Given the description of an element on the screen output the (x, y) to click on. 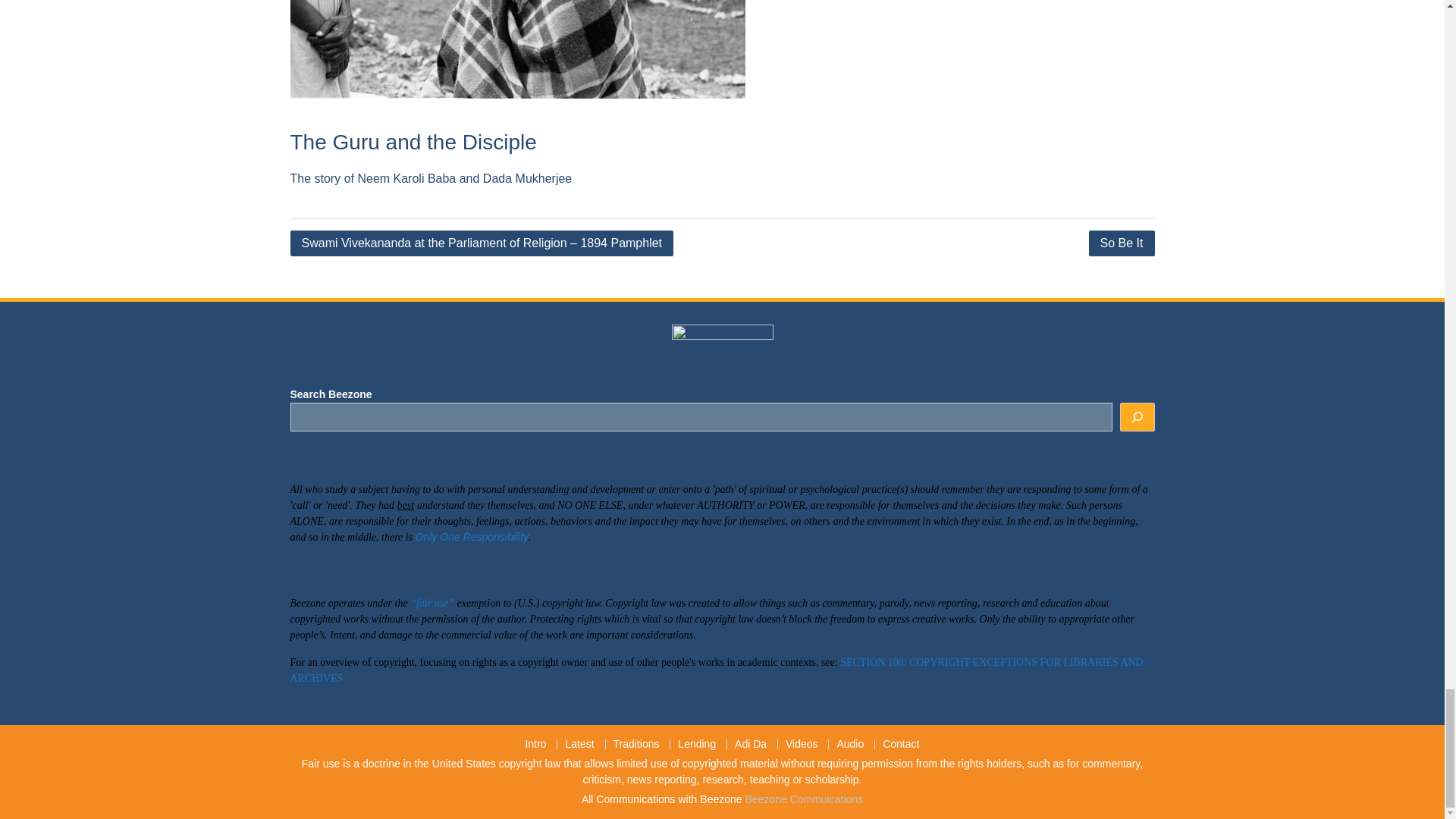
Videos (801, 744)
Intro (536, 744)
So Be It (1121, 243)
Traditions (635, 744)
The story of Neem Karoli Baba and Dada Mukherjee (430, 178)
Contact (900, 744)
Only One Responsibility (471, 536)
Latest (578, 744)
SECTION 108: COPYRIGHT EXCEPTIONS FOR LIBRARIES AND ARCHIVES (715, 669)
Beezone Commuications (803, 799)
